Given the description of an element on the screen output the (x, y) to click on. 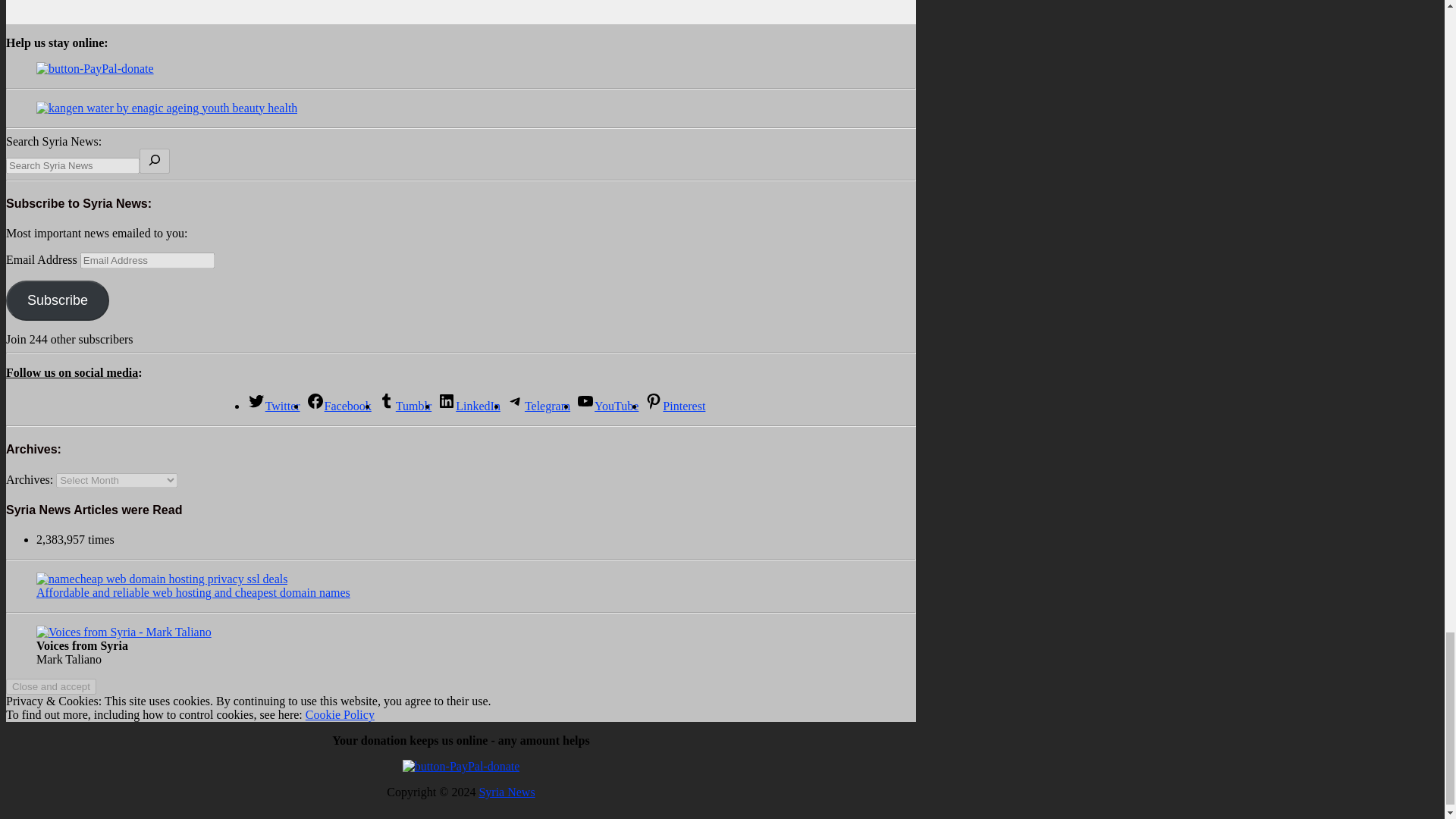
Close and accept (50, 686)
